Given the description of an element on the screen output the (x, y) to click on. 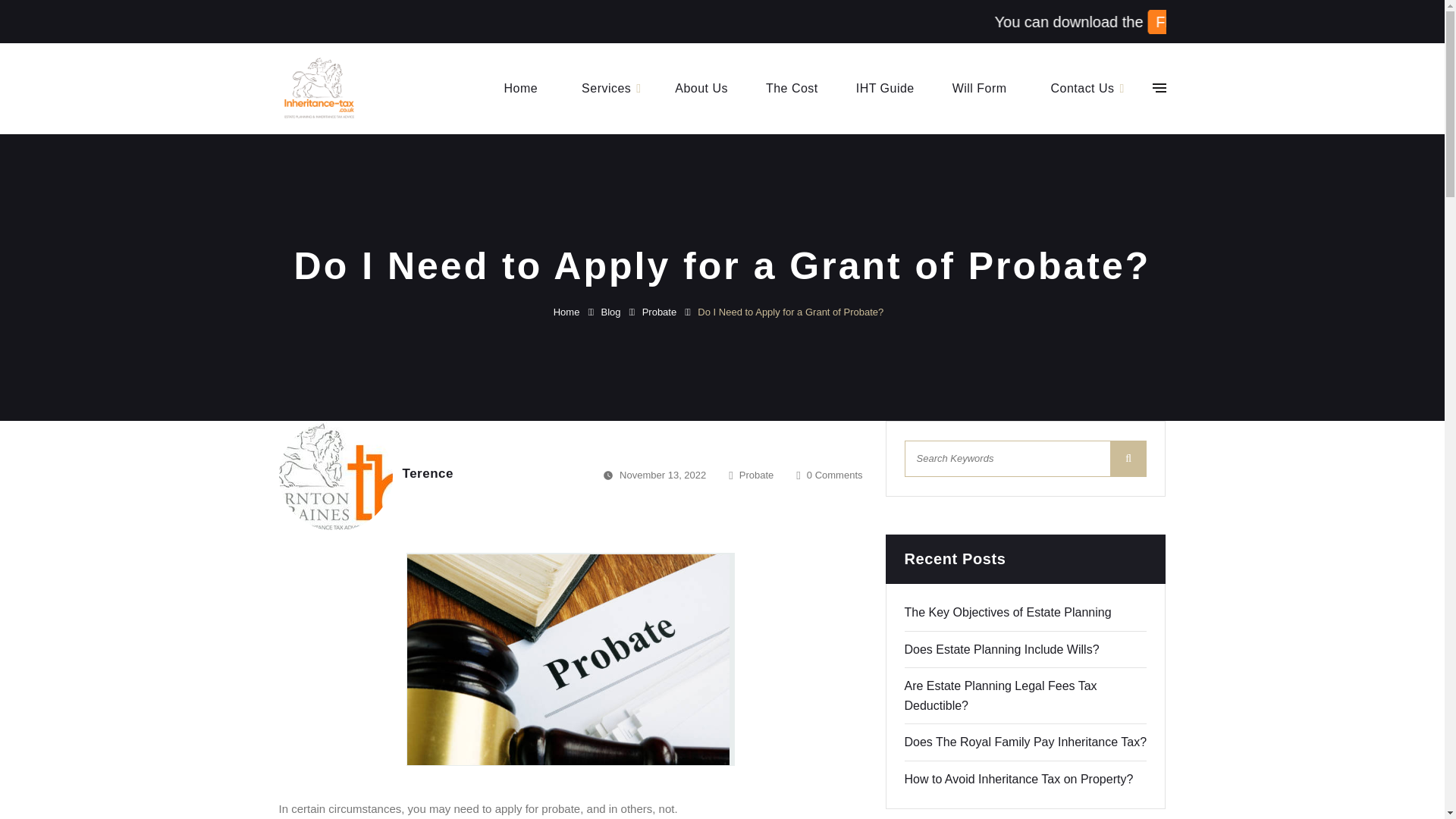
Will Form (979, 88)
About Us (701, 88)
Home (520, 88)
IHT Guide (885, 88)
Blog (620, 311)
Contact Us (1083, 88)
Services (605, 88)
The Cost (791, 88)
Home (577, 311)
Posts by Terence (426, 473)
Inheritance-tax.co.uk (318, 87)
